Given the description of an element on the screen output the (x, y) to click on. 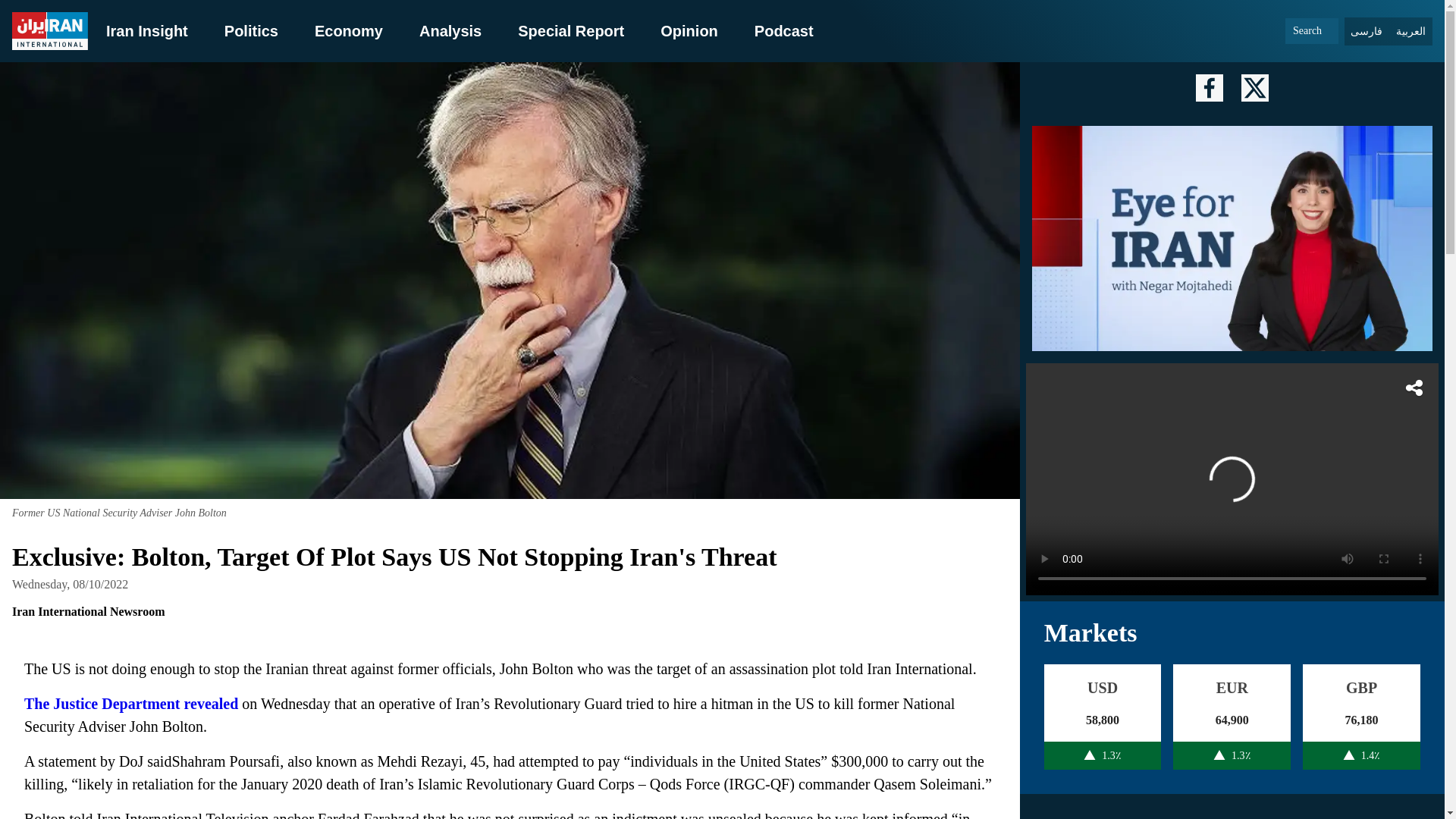
Analysis (450, 30)
Special Report (571, 30)
Economy (348, 30)
Iran International Newsroom (87, 612)
Politics (251, 30)
Podcast (783, 30)
The Justice Department revealed (131, 703)
Opinion (689, 30)
Live TV (1232, 479)
Iran Insight (146, 30)
